Given the description of an element on the screen output the (x, y) to click on. 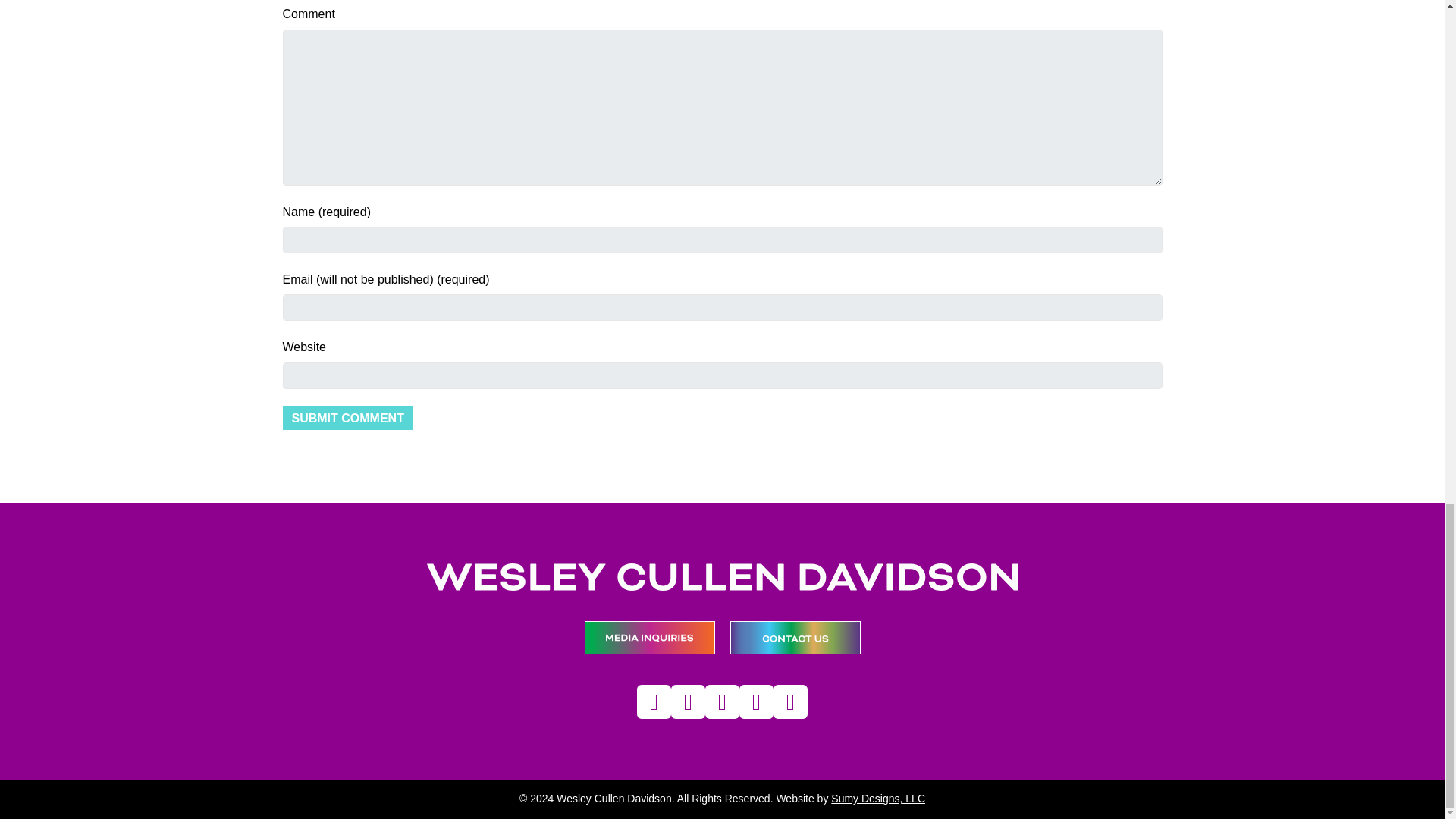
Submit Comment (347, 417)
Submit Comment (347, 417)
MEDIA CONTACT (649, 637)
CONTACT (795, 637)
white (721, 576)
Sumy Designs, LLC (877, 798)
Twitter (790, 701)
